Given the description of an element on the screen output the (x, y) to click on. 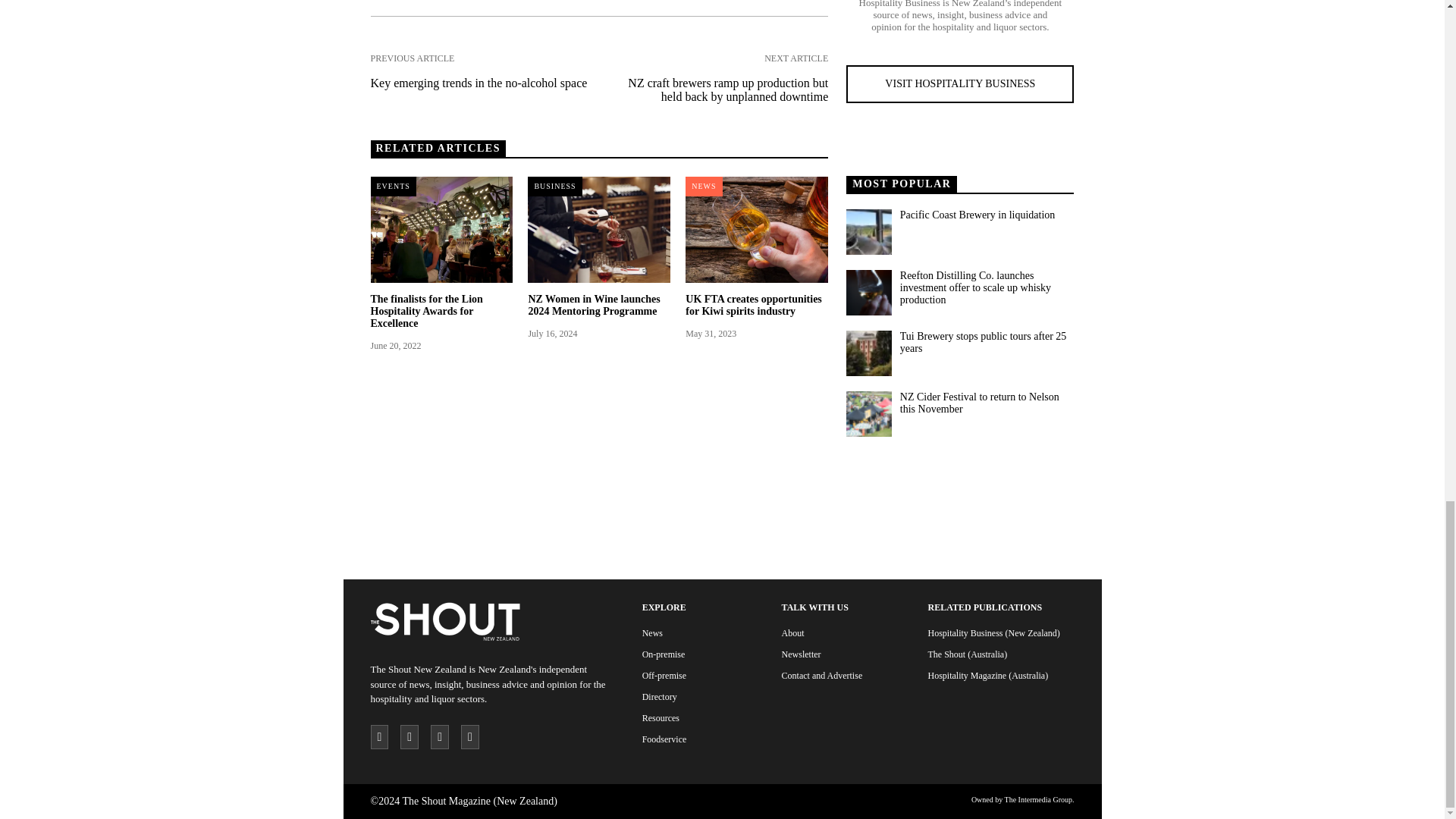
NZ Cider Festival to return to Nelson this November (868, 413)
Tui Brewery stops public tours after 25 years (868, 352)
Tui Brewery stops public tours after 25 years (986, 342)
Pacific Coast Brewery in liquidation (868, 231)
Pacific Coast Brewery in liquidation (986, 215)
NZ Cider Festival to return to Nelson this November (986, 403)
